Given the description of an element on the screen output the (x, y) to click on. 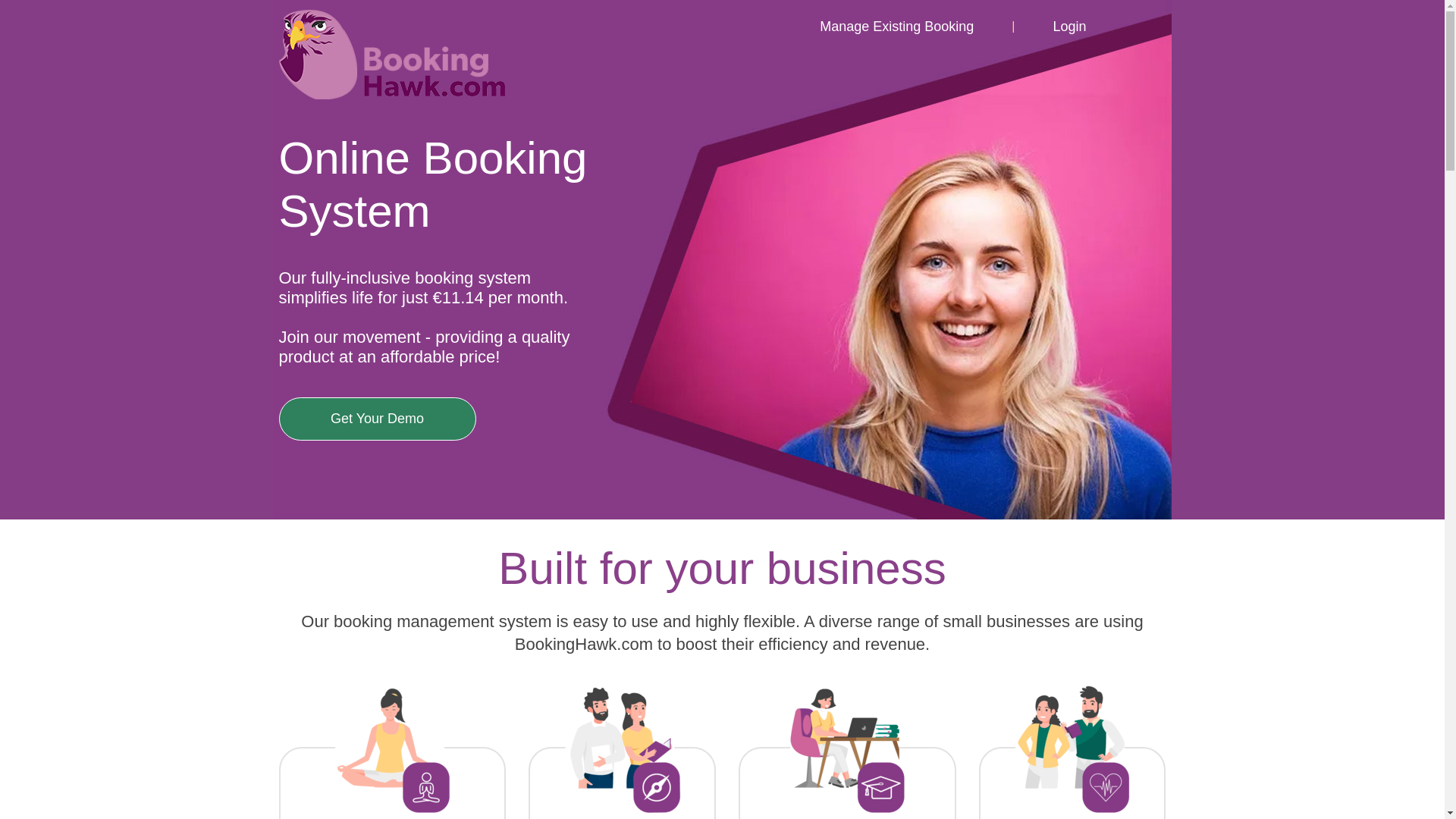
Manage Existing Booking (896, 26)
Login (1069, 26)
Get Your Demo (377, 418)
